Given the description of an element on the screen output the (x, y) to click on. 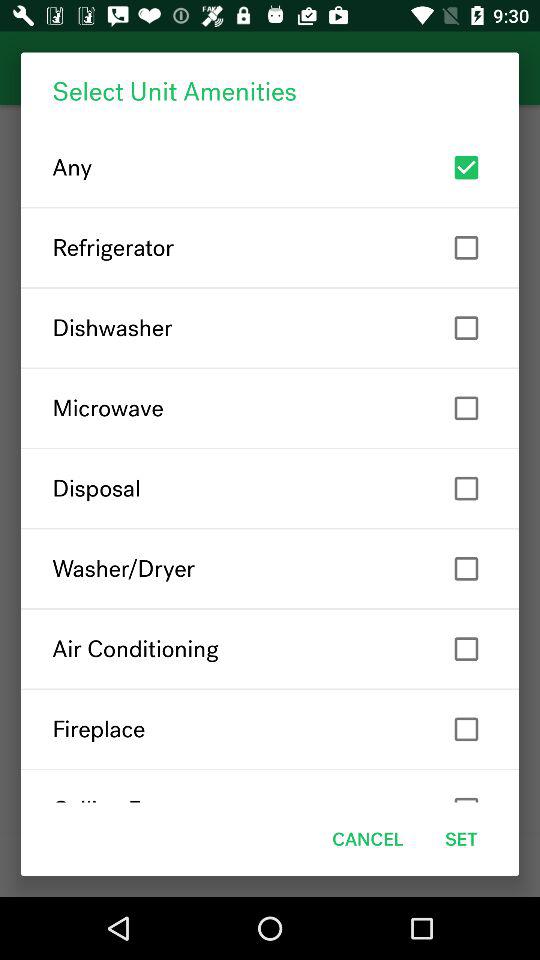
press icon below the disposal icon (270, 568)
